Given the description of an element on the screen output the (x, y) to click on. 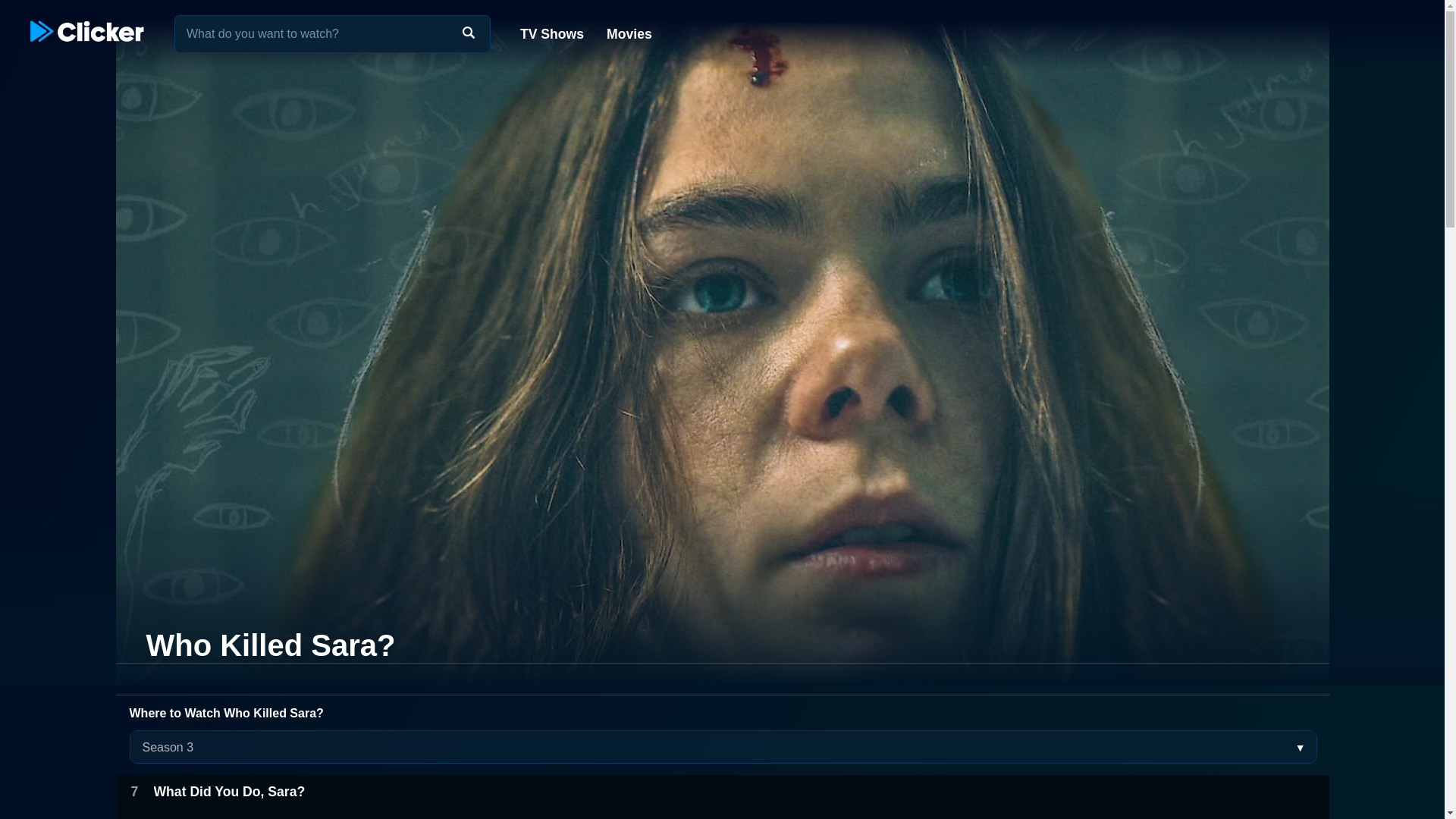
TV Shows (551, 33)
Movies (628, 33)
